Given the description of an element on the screen output the (x, y) to click on. 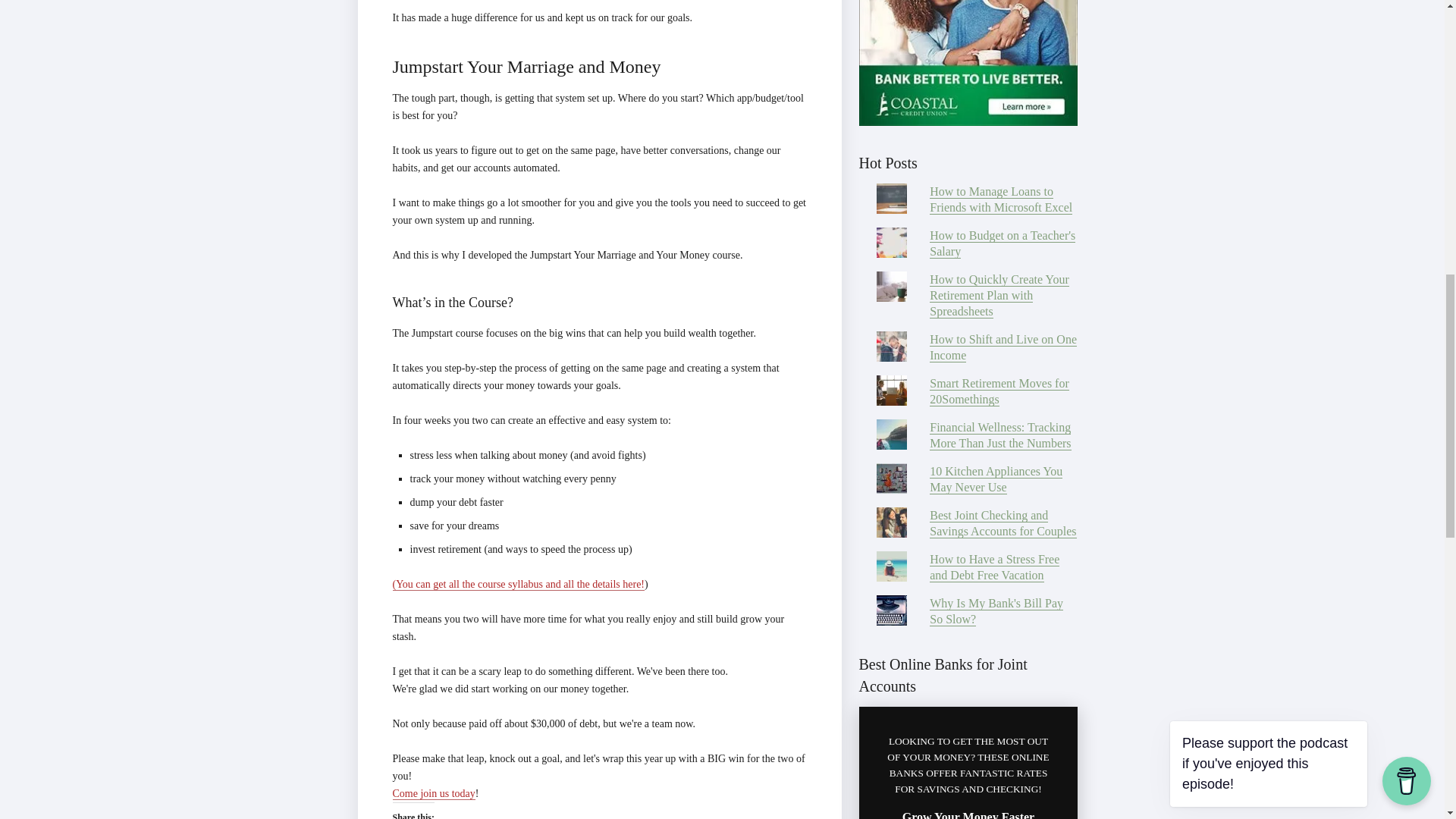
How to Budget on a Teacher's Salary (1002, 243)
How to Quickly Create Your Retirement Plan with Spreadsheets (999, 295)
Come join us today (434, 793)
How to Manage Loans to Friends with Microsoft Excel (1000, 199)
